Given the description of an element on the screen output the (x, y) to click on. 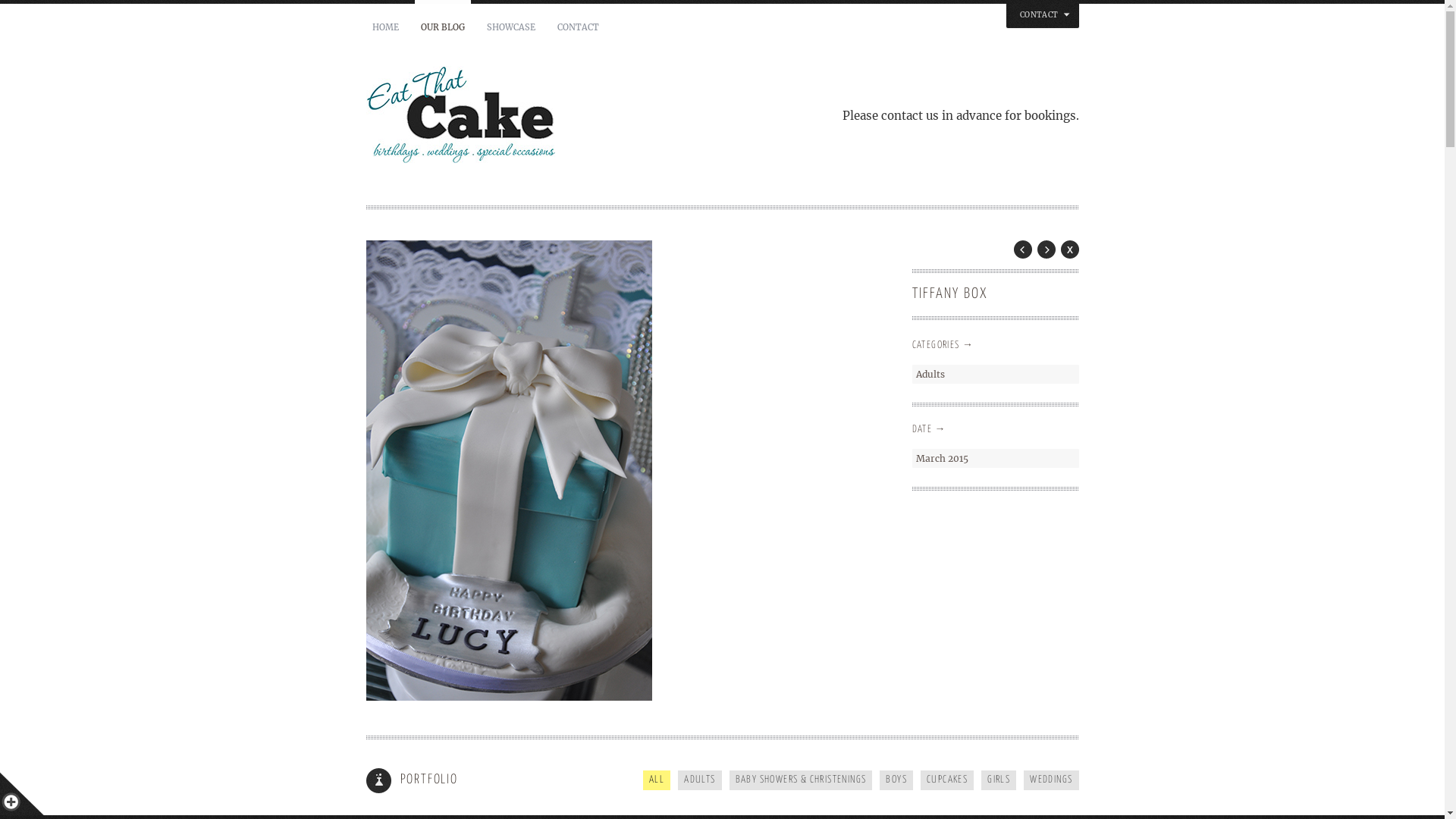
BOYS Element type: text (896, 780)
BABY SHOWERS & CHRISTENINGS Element type: text (800, 780)
OUR BLOG Element type: text (442, 26)
ALL Element type: text (656, 780)
ADULTS Element type: text (699, 780)
CUPCAKES Element type: text (946, 780)
GIRLS Element type: text (998, 780)
Return to the homepage Element type: hover (547, 116)
Next Post Element type: text (1046, 249)
CONTACT Element type: text (577, 26)
Prev Post Element type: text (1022, 249)
HOME Element type: text (384, 26)
SHOWCASE Element type: text (510, 26)
WEDDINGS Element type: text (1050, 780)
